Given the description of an element on the screen output the (x, y) to click on. 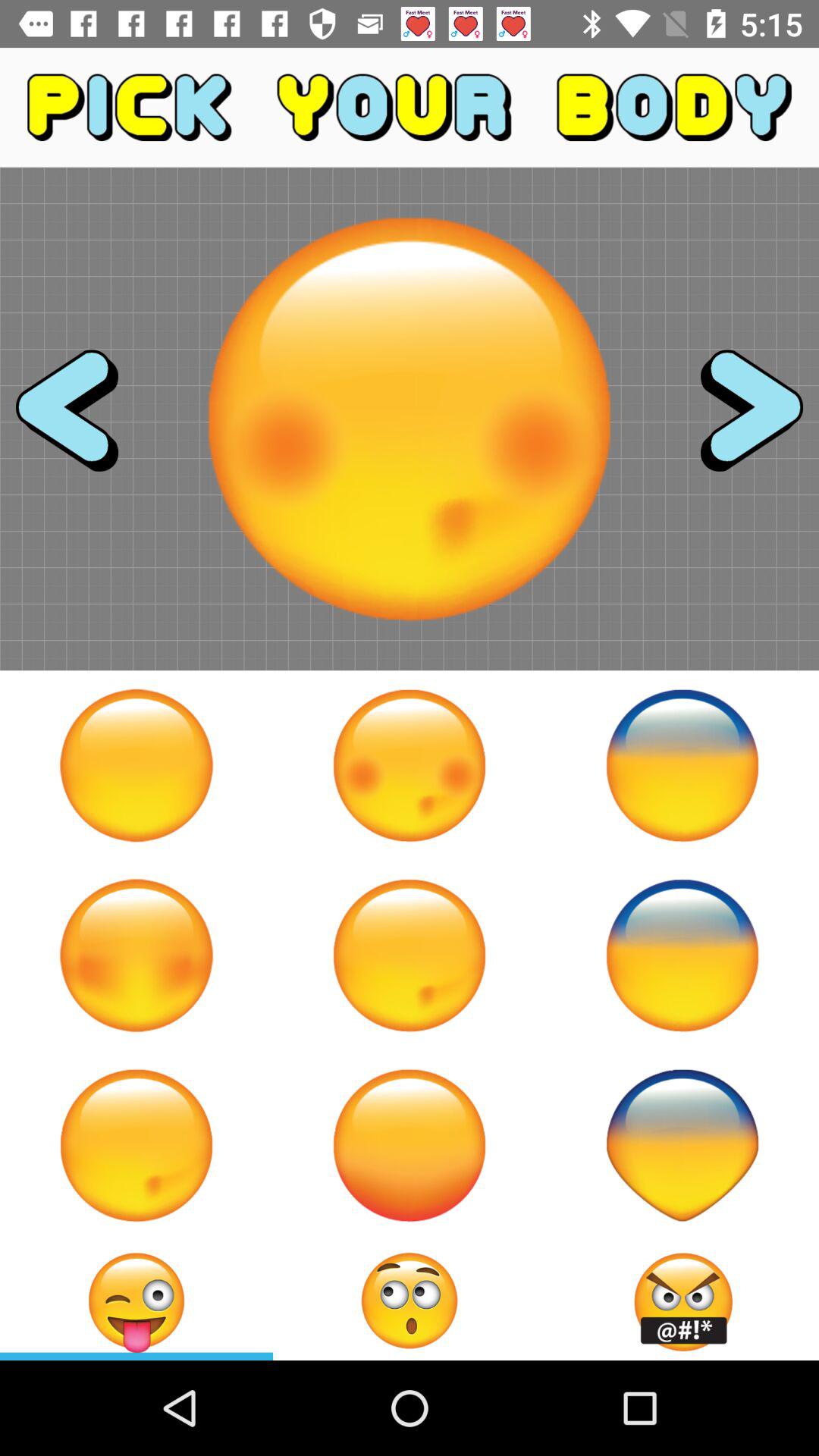
go to next image (737, 418)
